Given the description of an element on the screen output the (x, y) to click on. 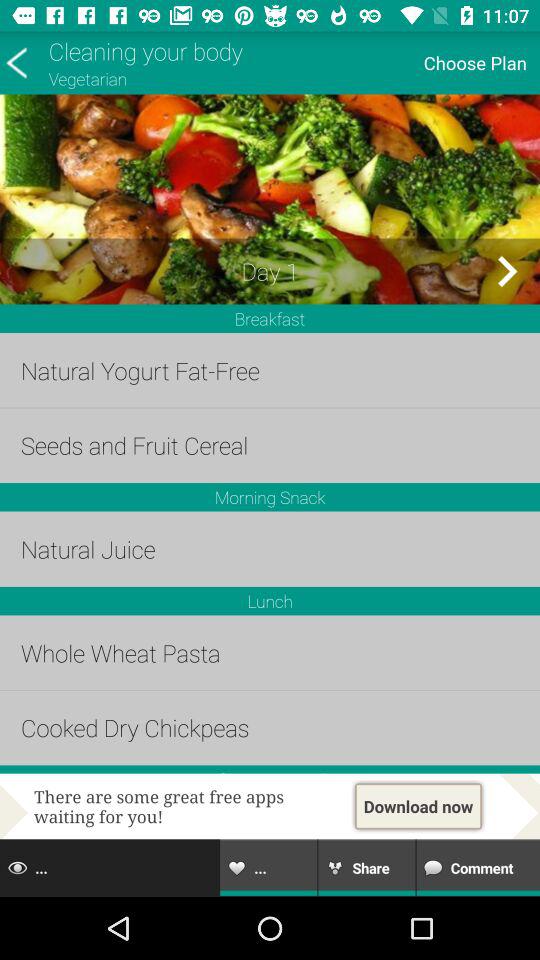
view next date (506, 271)
